Given the description of an element on the screen output the (x, y) to click on. 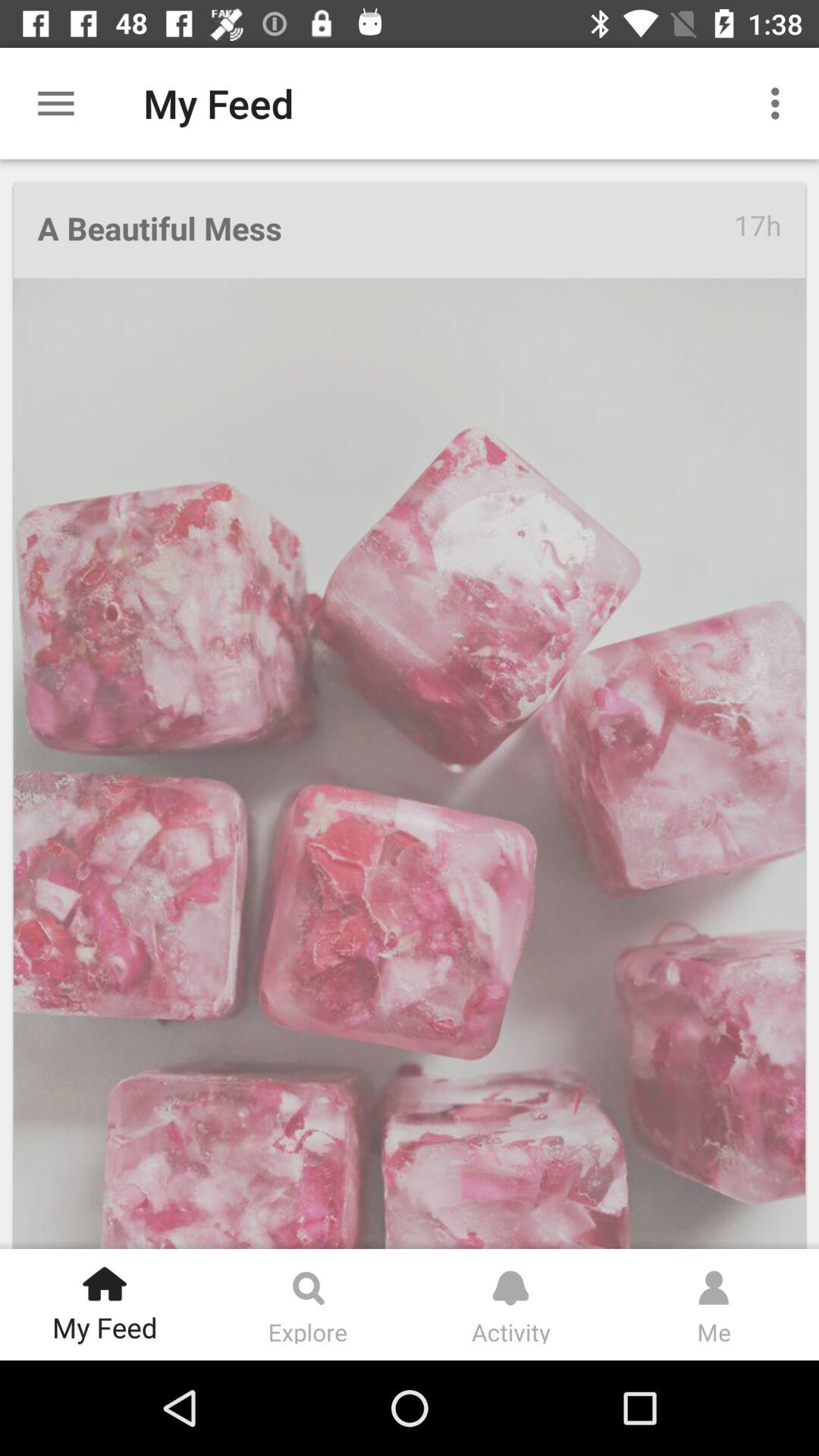
swipe until the a beautiful mess item (385, 230)
